Given the description of an element on the screen output the (x, y) to click on. 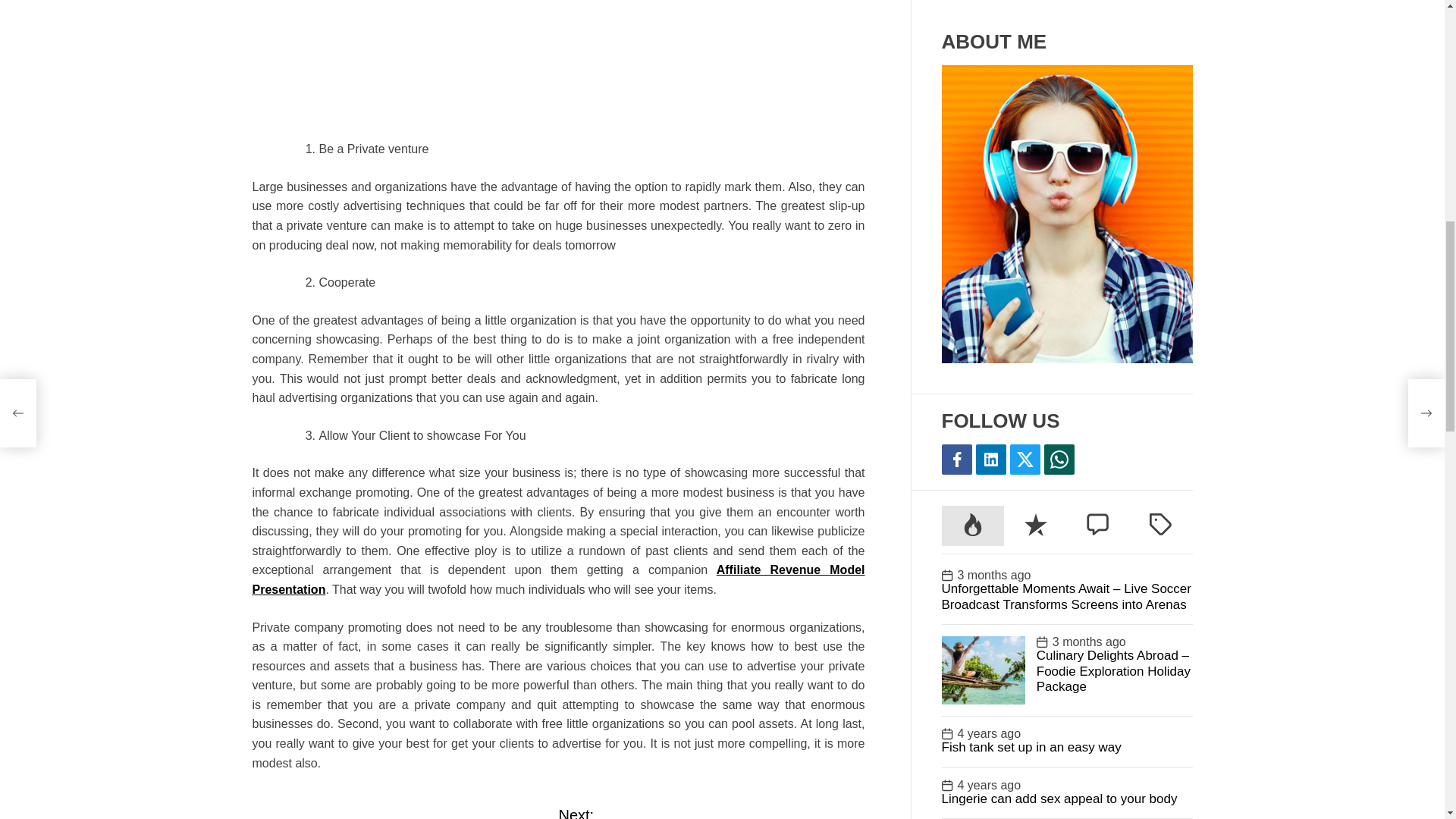
Affiliate Revenue Model Presentation (404, 816)
